Given the description of an element on the screen output the (x, y) to click on. 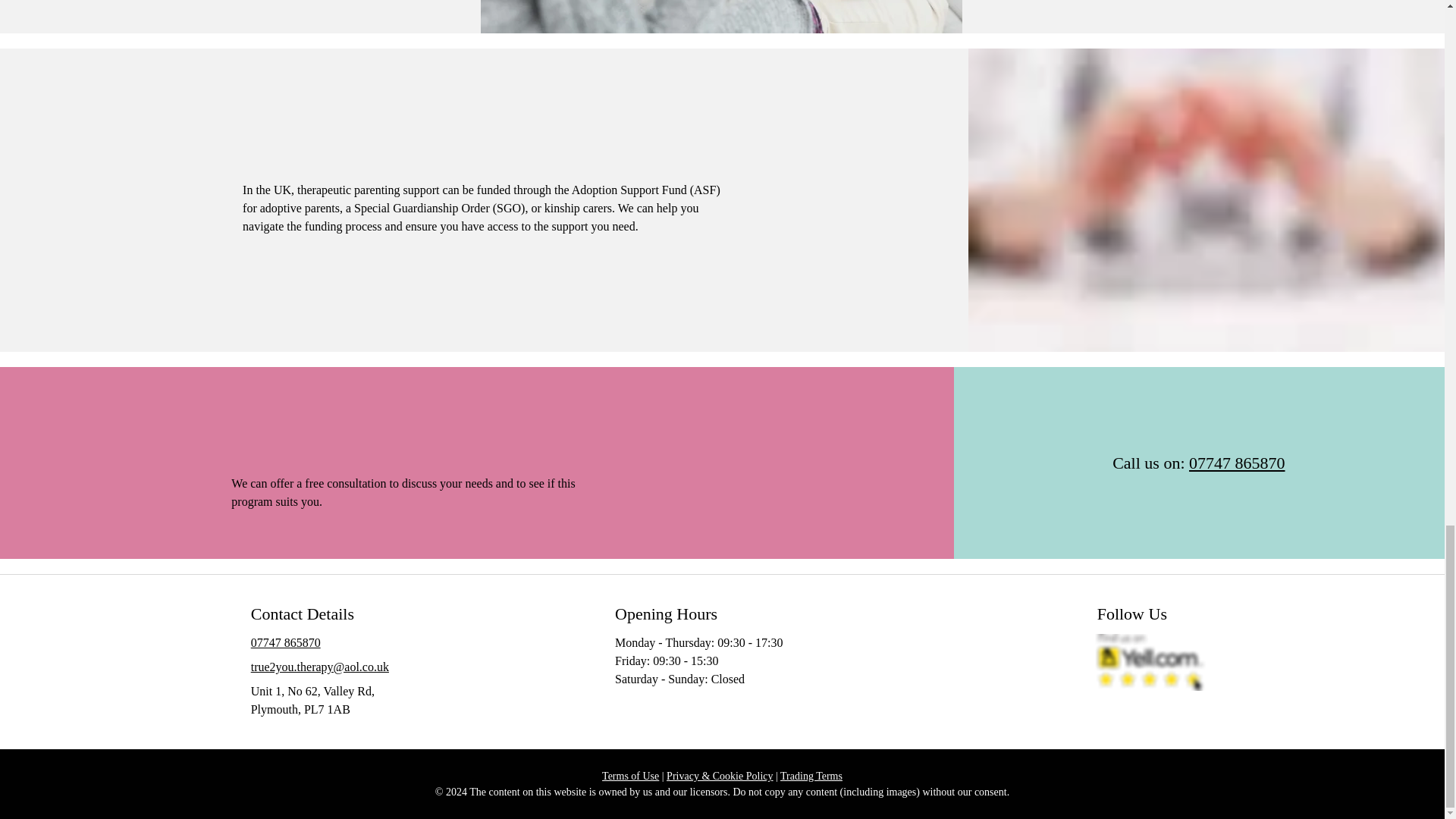
Terms of Use (630, 776)
07747 865870 (1237, 462)
Trading Terms (811, 776)
07747 865870 (285, 642)
